Given the description of an element on the screen output the (x, y) to click on. 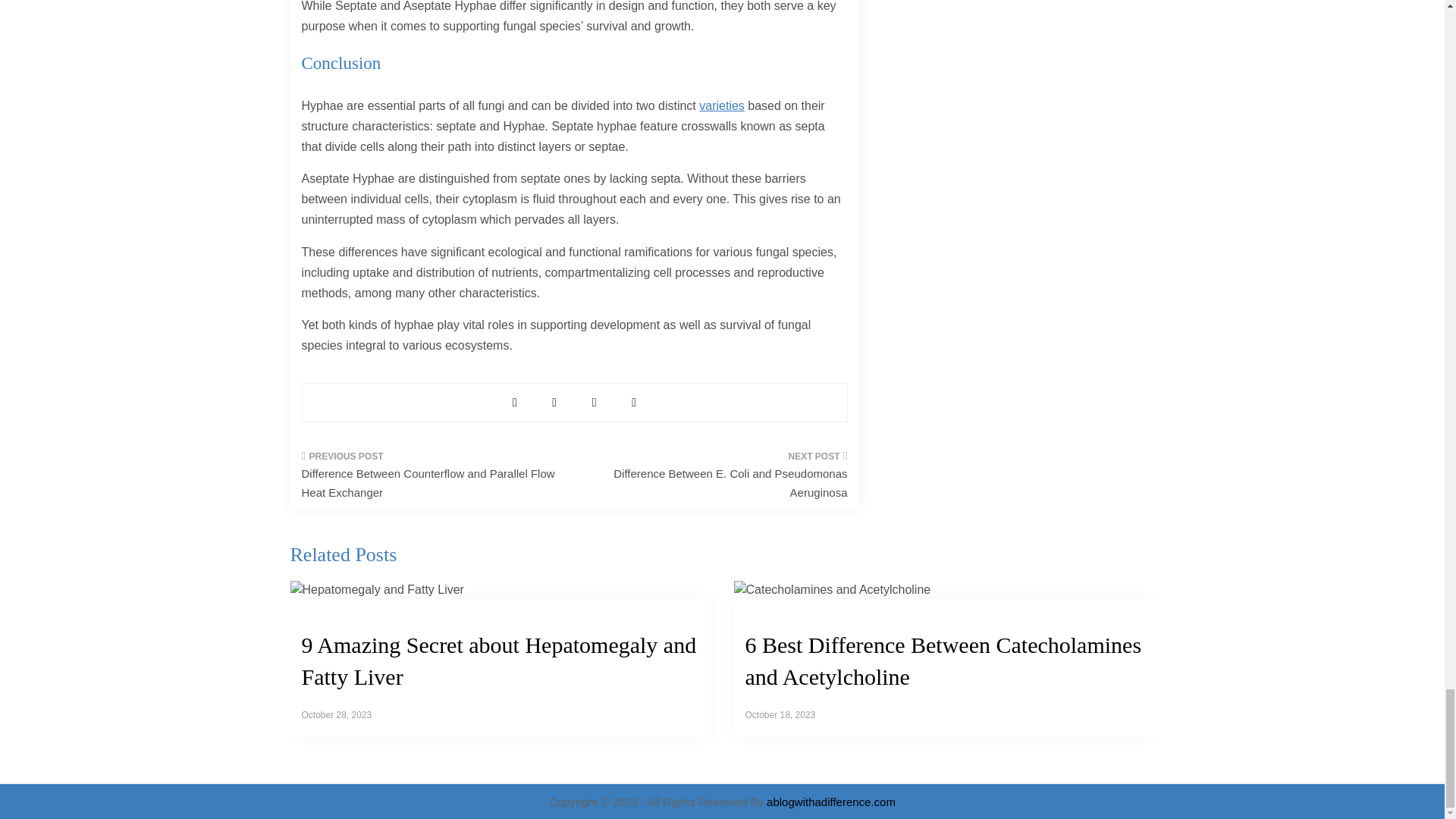
Difference Between E. Coli and Pseudomonas Aeruginosa (716, 479)
varieties (721, 105)
